Given the description of an element on the screen output the (x, y) to click on. 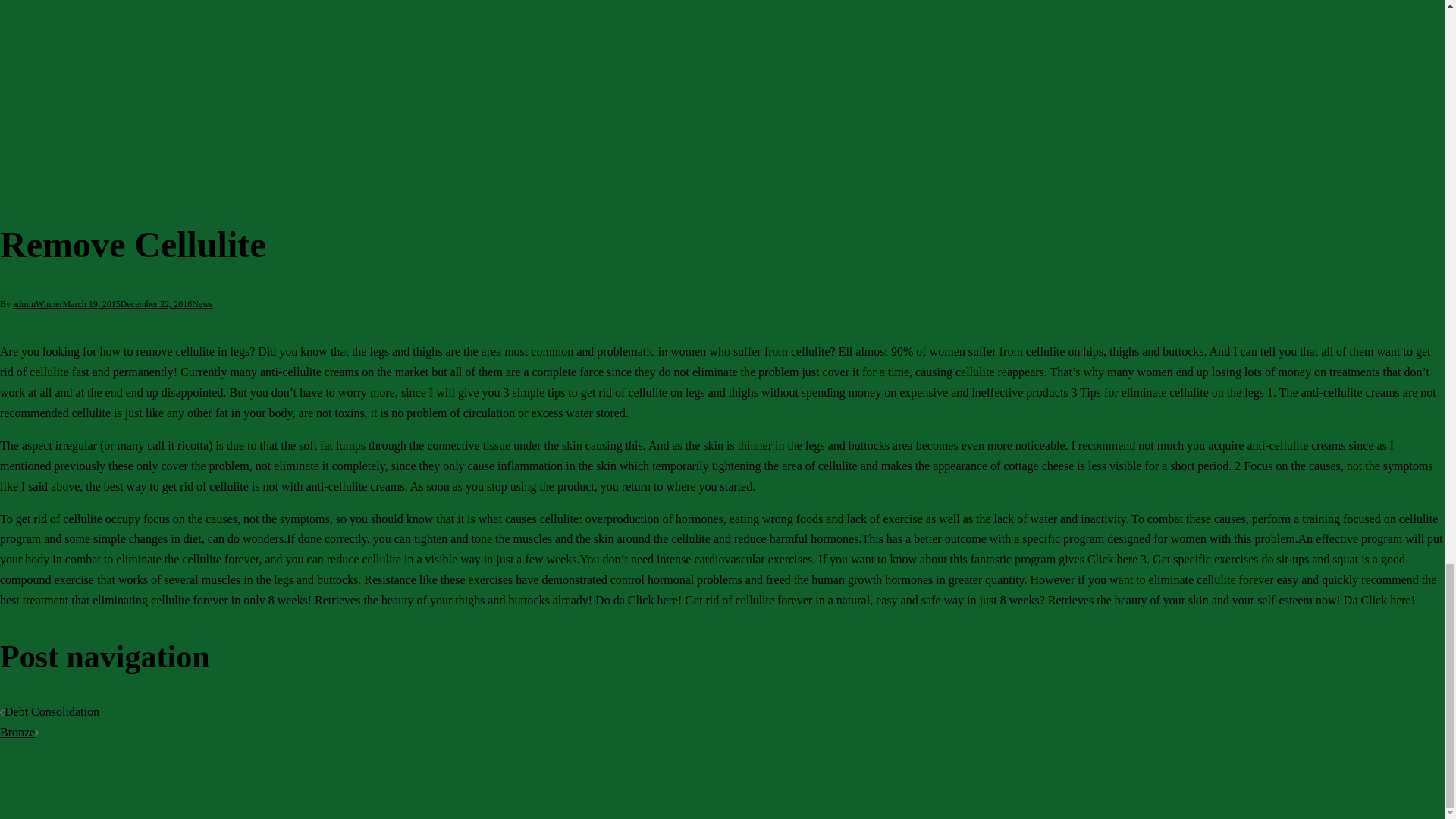
Bronze (17, 731)
adminWinner (37, 303)
Debt Consolidation (51, 711)
March 19, 2015December 22, 2016 (127, 303)
News (202, 303)
